Given the description of an element on the screen output the (x, y) to click on. 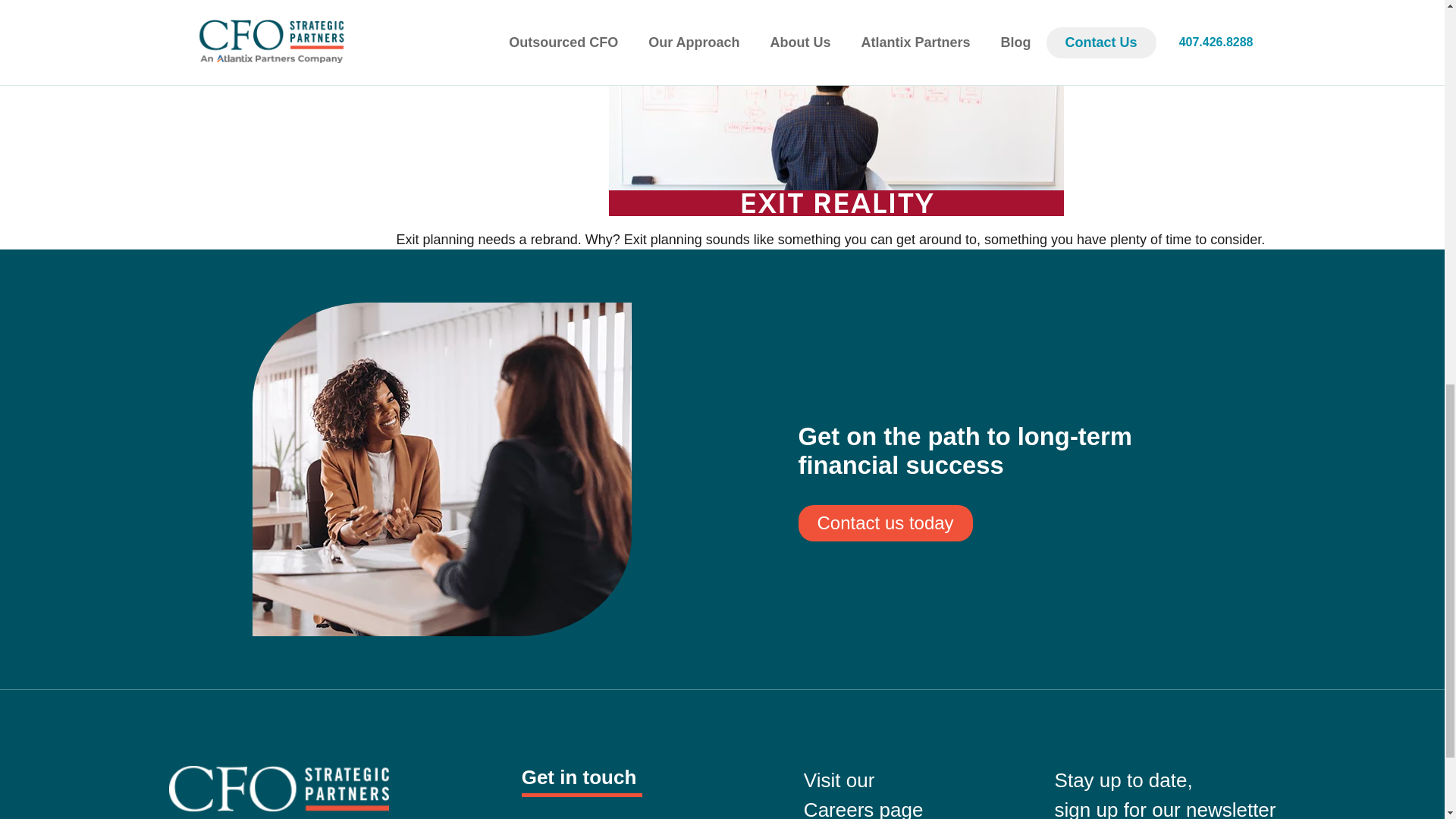
407.426.8288 (863, 794)
Contact us today (581, 817)
